Given the description of an element on the screen output the (x, y) to click on. 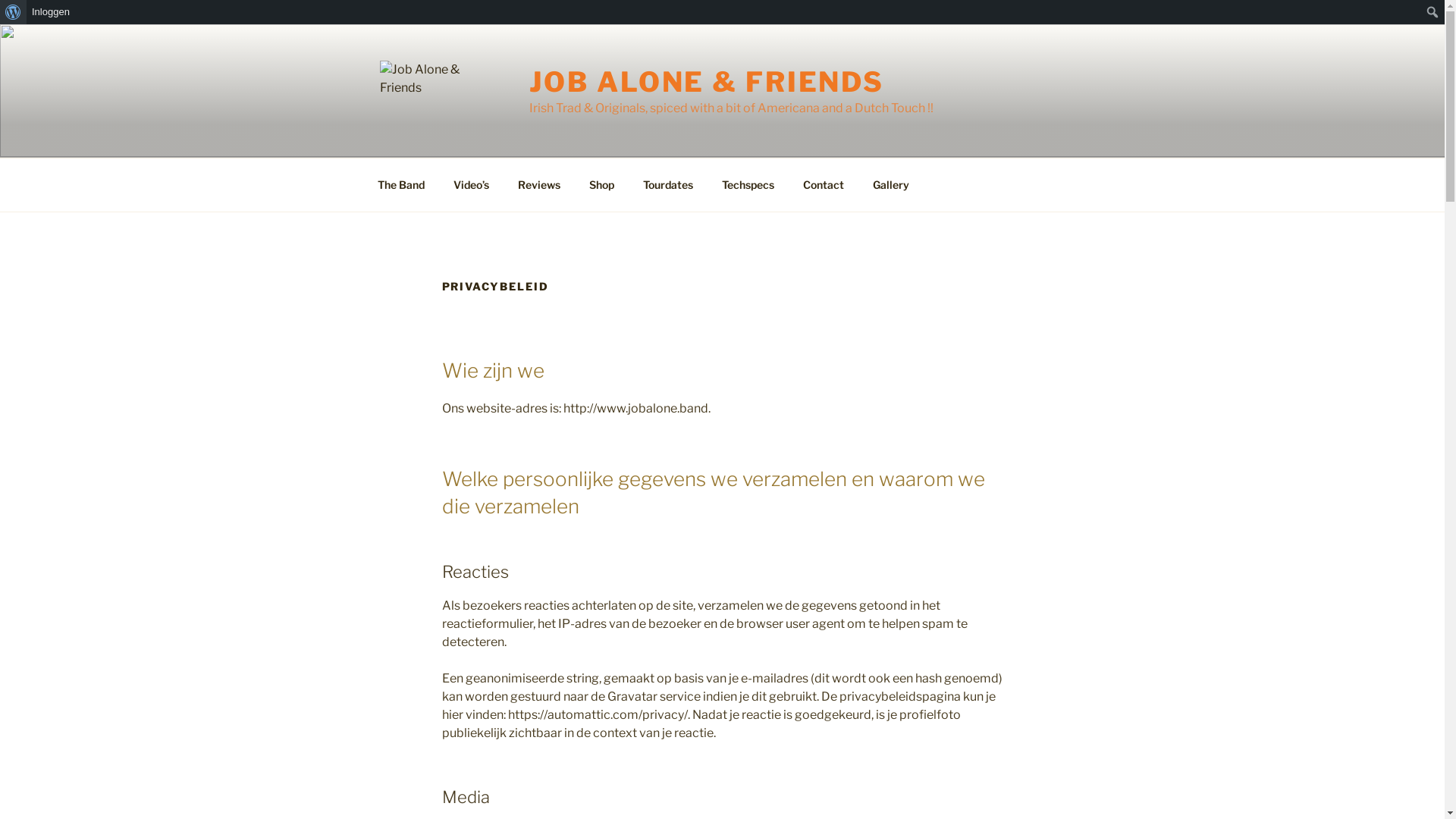
Gallery Element type: text (890, 184)
Tourdates Element type: text (667, 184)
Techspecs Element type: text (747, 184)
JOB ALONE & FRIENDS Element type: text (706, 81)
The Band Element type: text (400, 184)
Shop Element type: text (601, 184)
Zoeken Element type: text (16, 12)
Inloggen Element type: text (50, 12)
Contact Element type: text (823, 184)
Reviews Element type: text (539, 184)
